Given the description of an element on the screen output the (x, y) to click on. 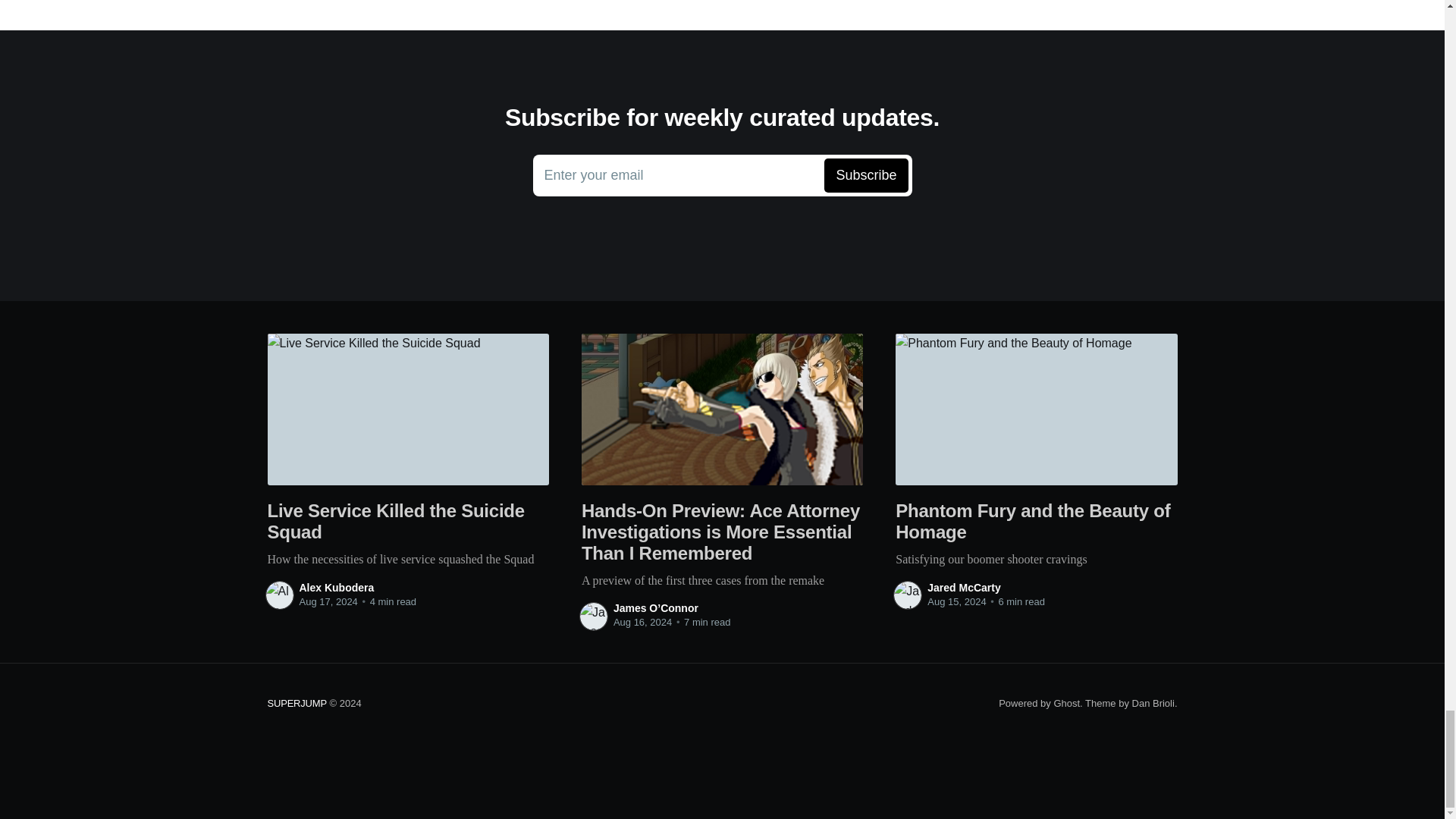
Alex Kubodera (336, 587)
